Given the description of an element on the screen output the (x, y) to click on. 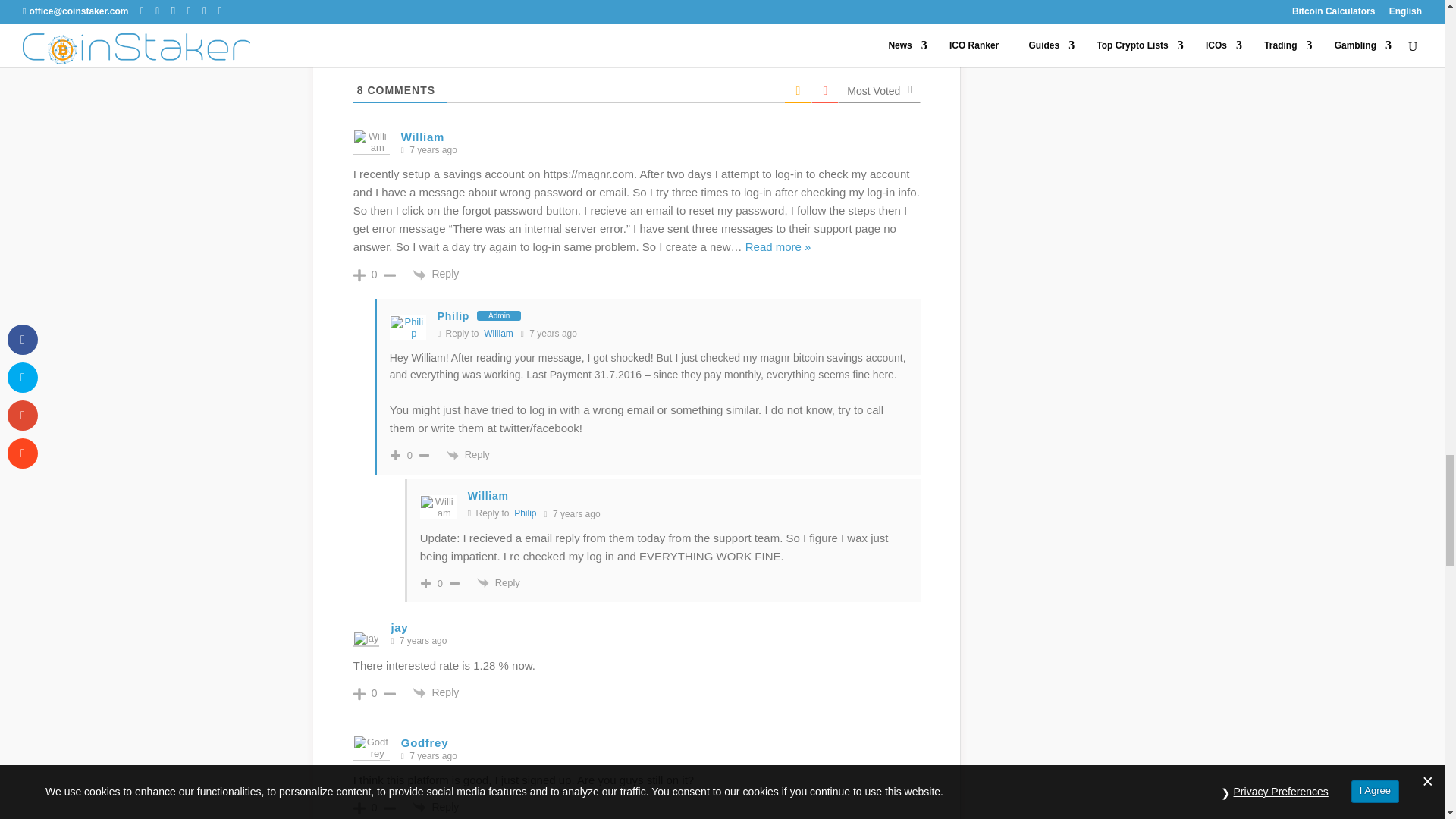
Unordered List (523, 7)
Bold (417, 7)
Spoiler (627, 7)
Italic (438, 7)
Ordered List (502, 7)
Underline (459, 7)
Code Block (566, 7)
Link (587, 7)
Blockquote (545, 7)
Strike (481, 7)
Source Code (606, 7)
